Given the description of an element on the screen output the (x, y) to click on. 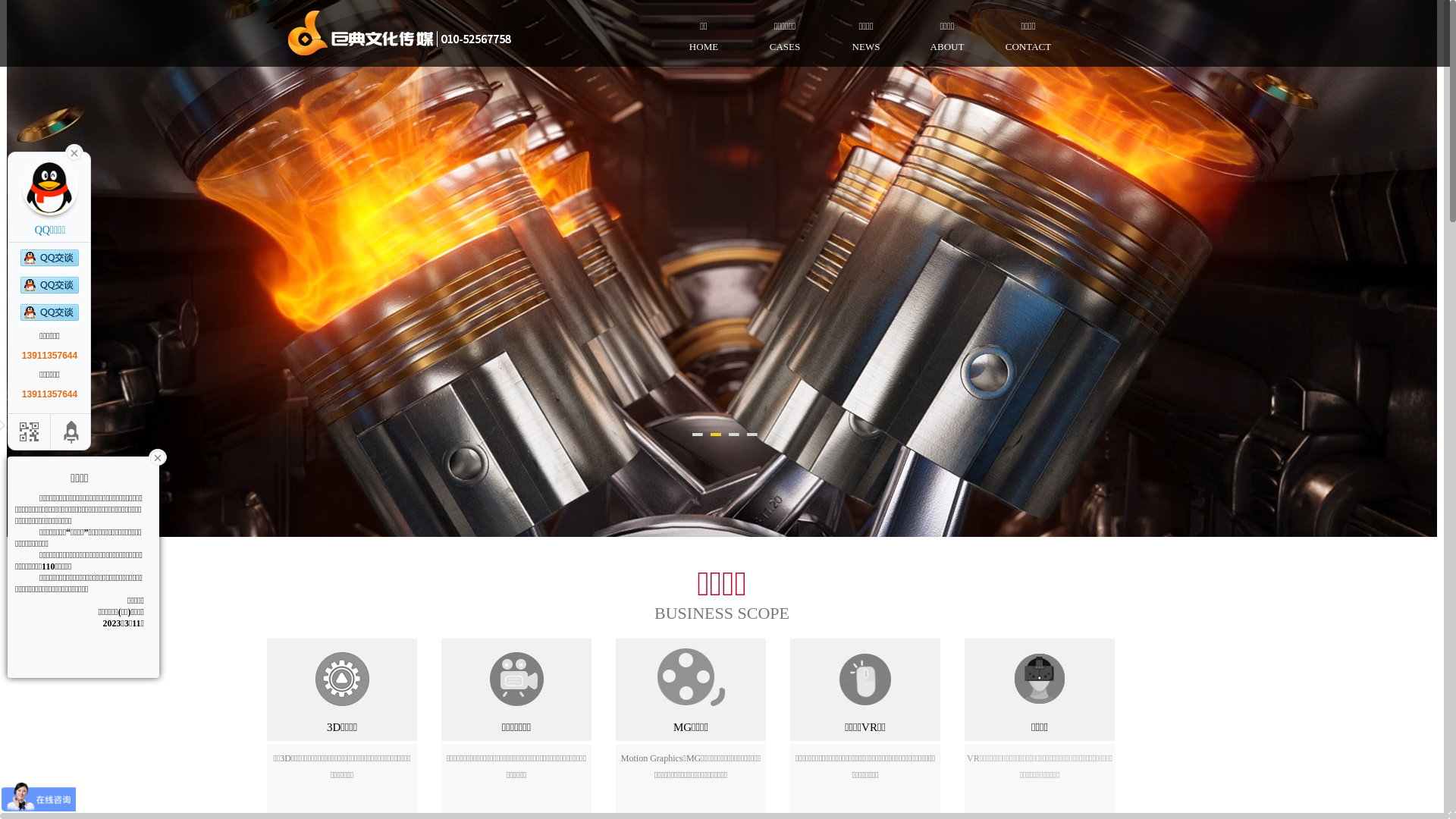
  Element type: text (74, 151)
